Given the description of an element on the screen output the (x, y) to click on. 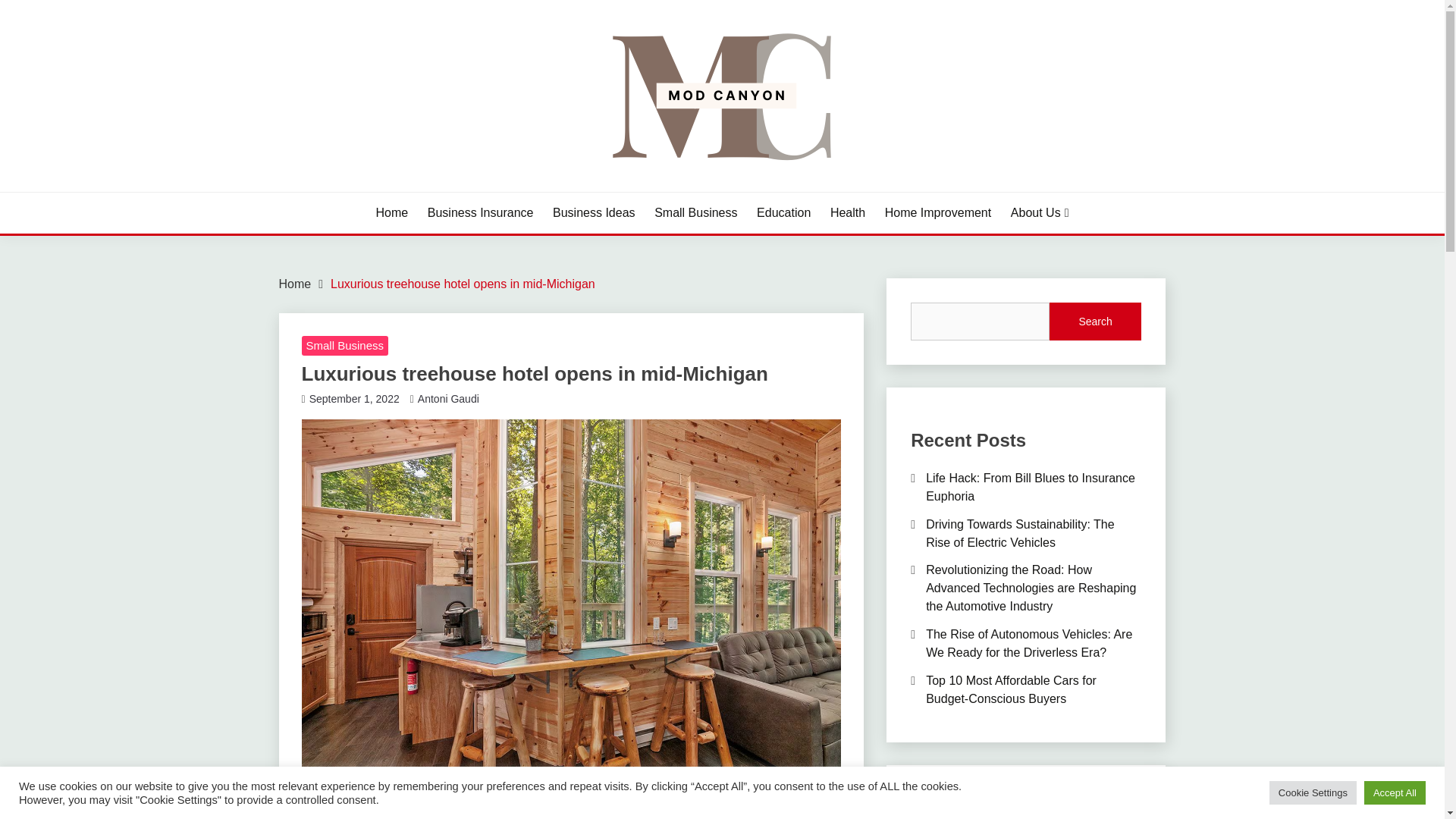
Luxurious treehouse hotel opens in mid-Michigan (462, 283)
Search (1095, 321)
Home (295, 283)
Home Improvement (938, 212)
Business Ideas (593, 212)
Antoni Gaudi (448, 398)
MODCANYON (371, 189)
